Given the description of an element on the screen output the (x, y) to click on. 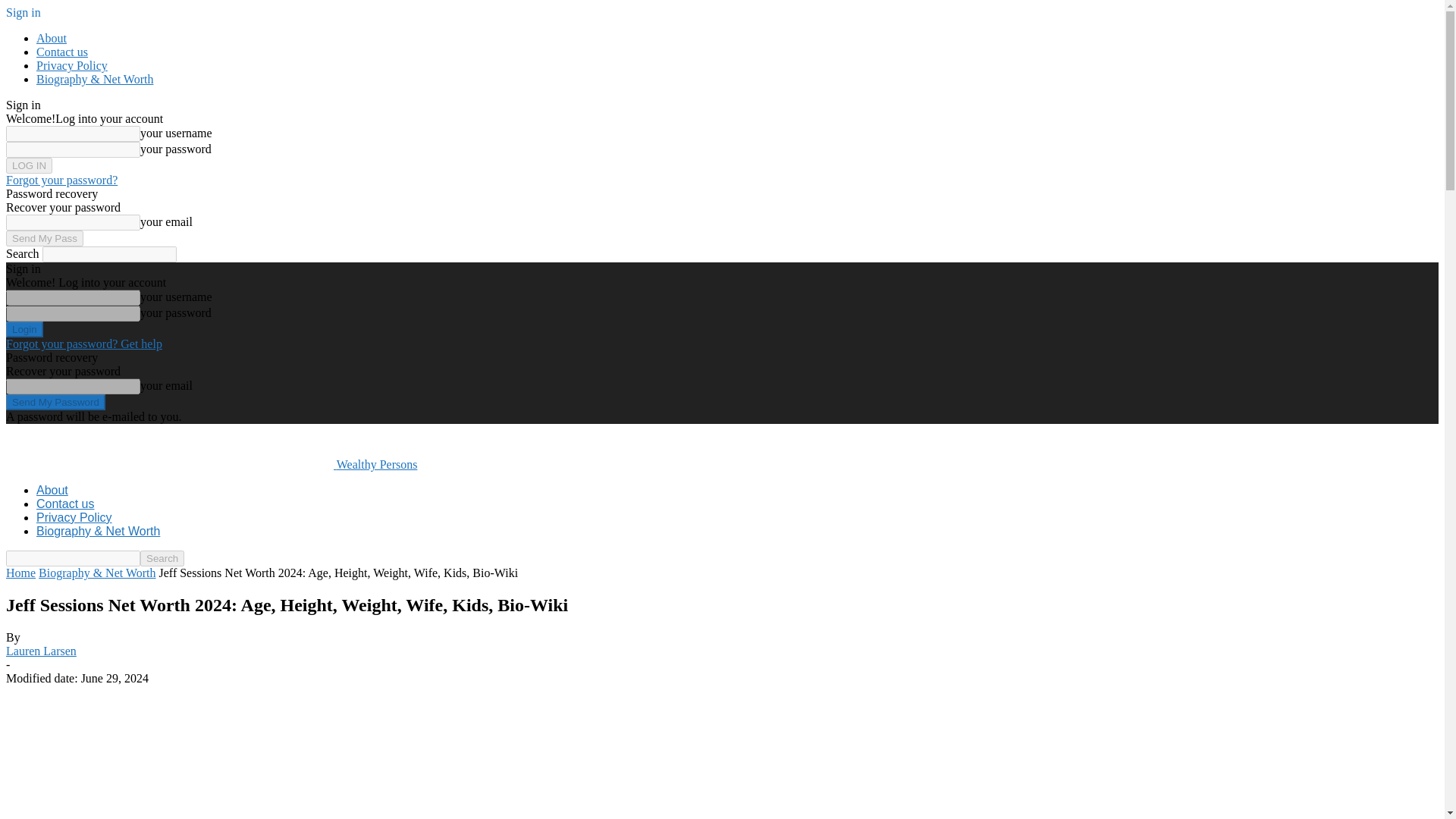
Sign in (22, 11)
Wealthy Persons (210, 463)
Contact us (65, 503)
Privacy Policy (71, 65)
Search (161, 558)
Login (24, 329)
Send My Pass (43, 238)
LOG IN (28, 165)
Home (19, 572)
Forgot your password? Get help (83, 343)
Contact us (61, 51)
Send My Password (54, 401)
Search (161, 558)
About (51, 38)
Lauren Larsen (41, 650)
